Given the description of an element on the screen output the (x, y) to click on. 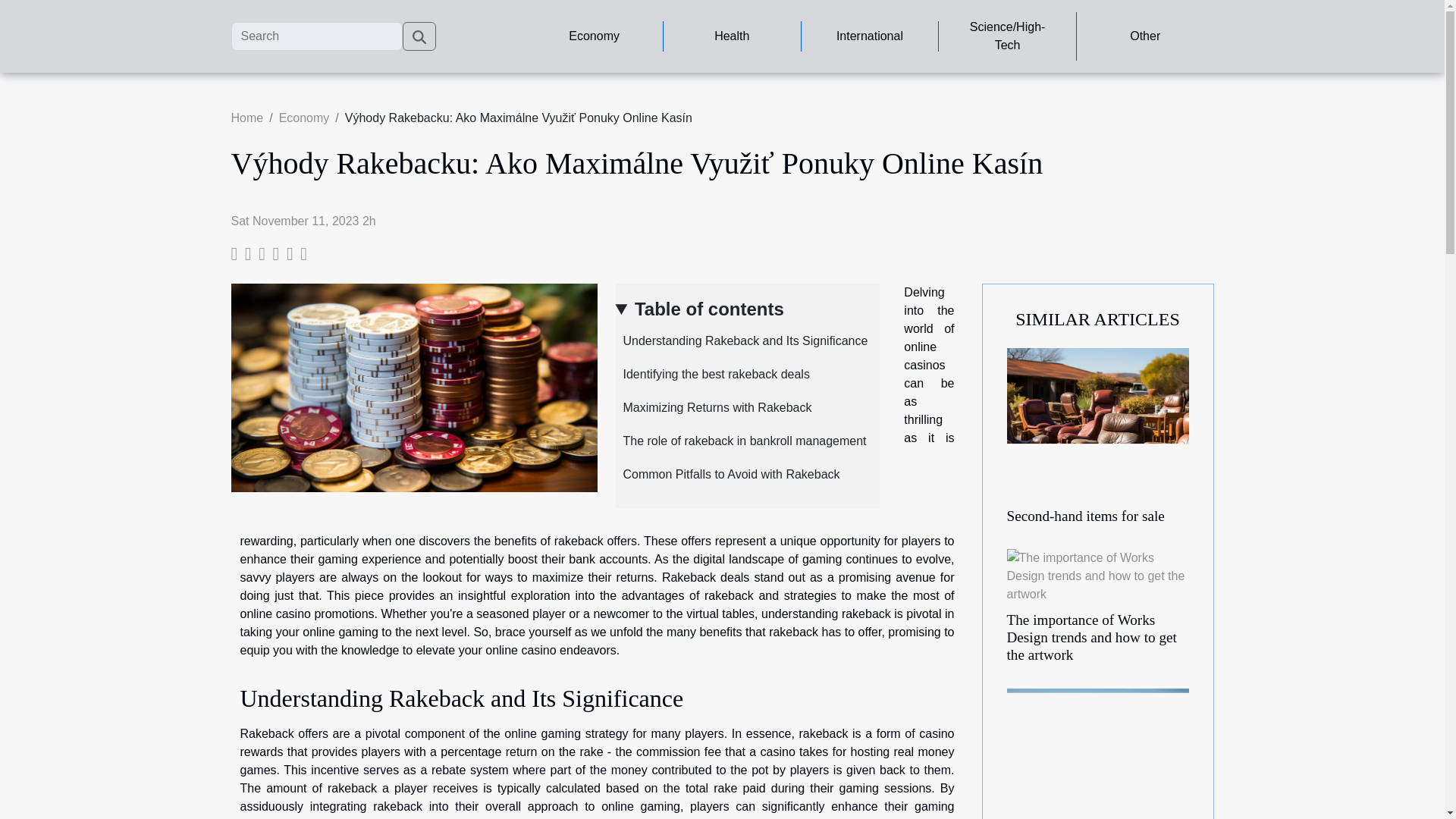
Home (246, 117)
Economy (304, 117)
Understanding Rakeback and Its Significance (741, 340)
Common Pitfalls to Avoid with Rakeback (727, 473)
House in Switzerland: how to find? (1098, 762)
Second-hand items for sale (1085, 515)
Maximizing Returns with Rakeback (713, 407)
The role of rakeback in bankroll management (740, 440)
Identifying the best rakeback deals (712, 373)
International (869, 36)
Economy (304, 117)
Economy (593, 36)
